Given the description of an element on the screen output the (x, y) to click on. 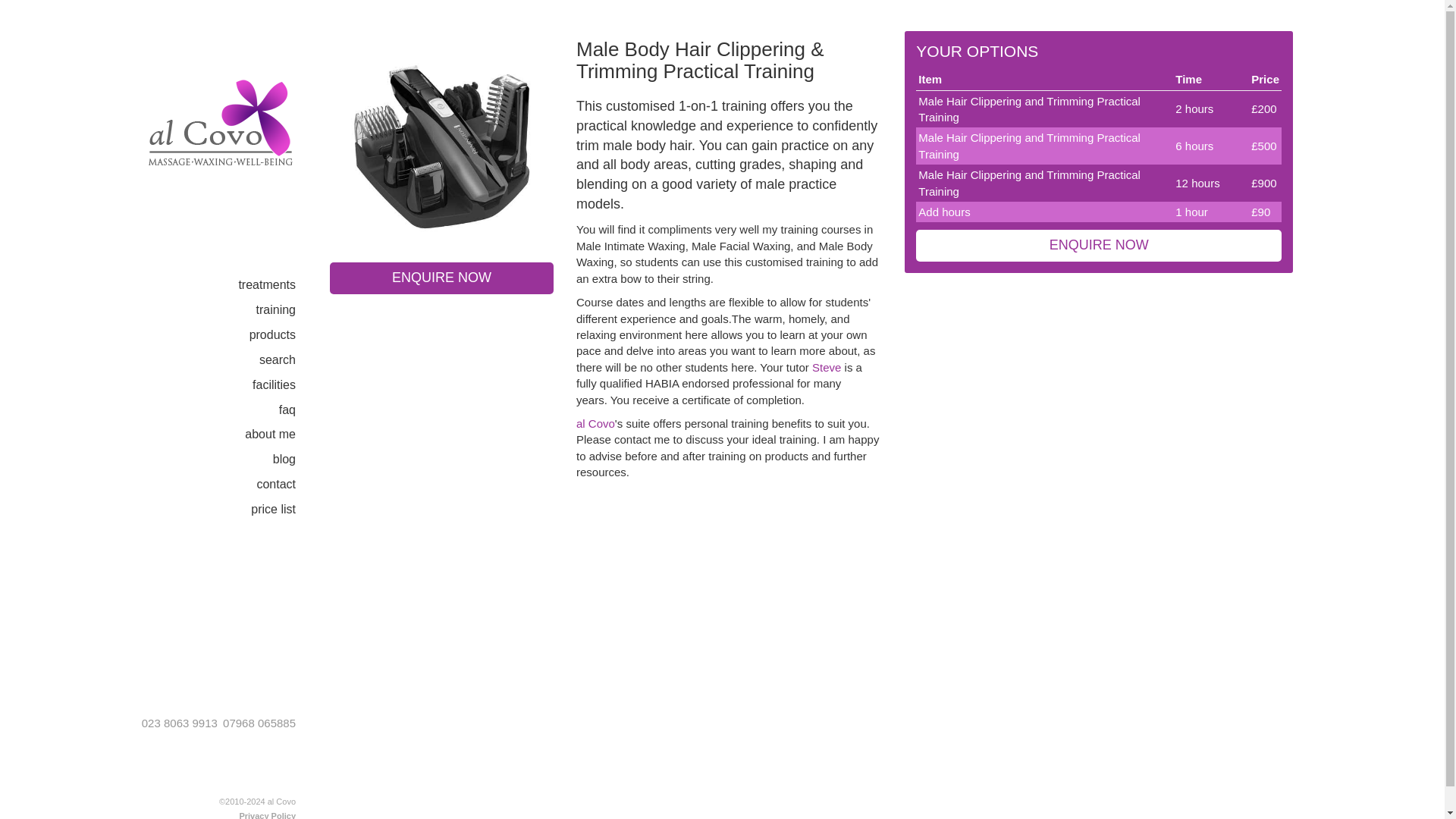
ENQUIRE NOW (441, 278)
facilities (284, 384)
search (288, 360)
products (283, 334)
ENQUIRE NOW (1098, 245)
about me (281, 434)
treatments (278, 285)
faq (298, 410)
Privacy Policy (266, 815)
training (287, 310)
al Covo (595, 422)
price list (284, 509)
blog (295, 459)
contact (287, 484)
Steve (826, 367)
